Given the description of an element on the screen output the (x, y) to click on. 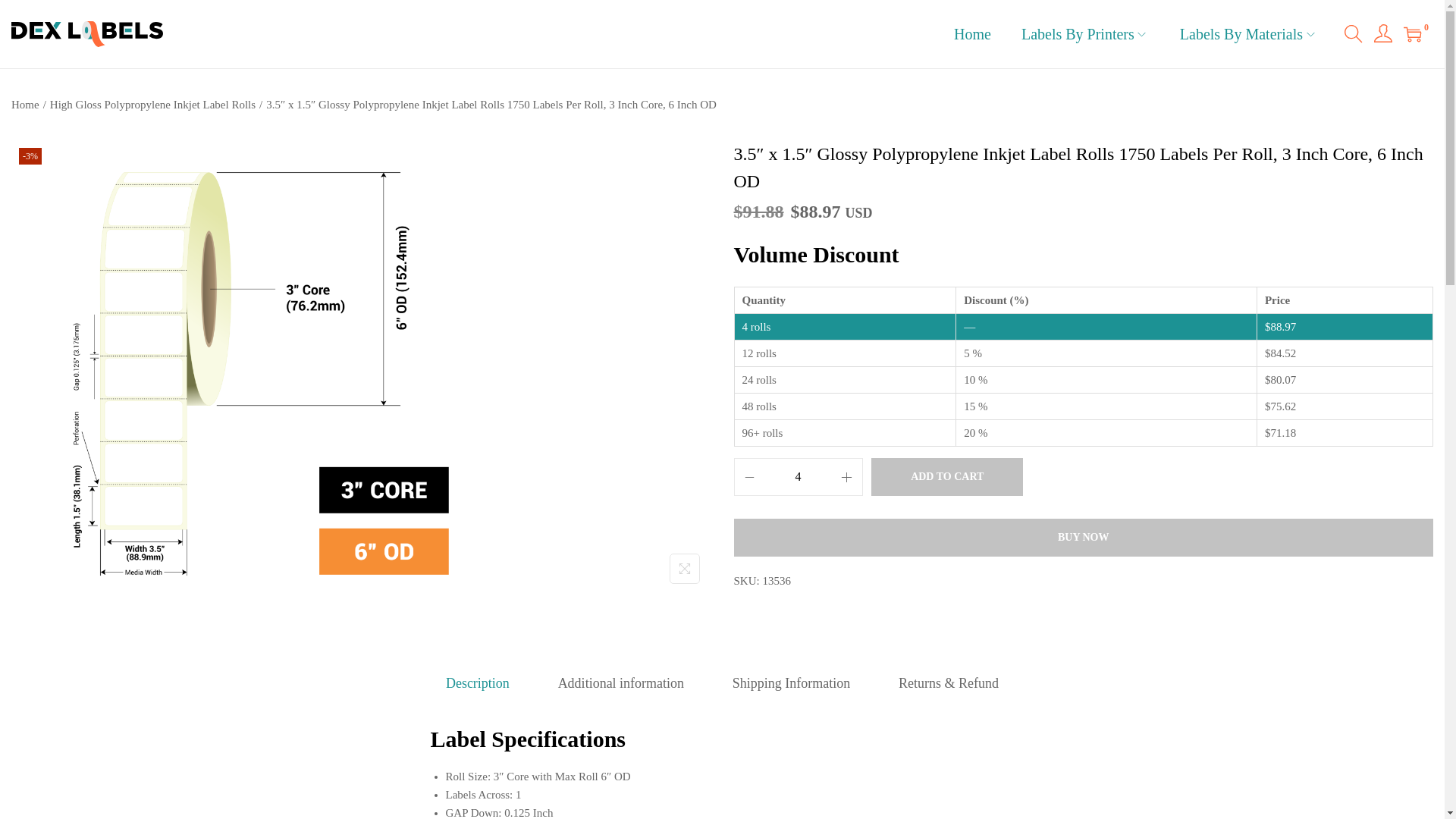
Labels By Printers (1086, 33)
Home (972, 33)
4 (797, 476)
